Given the description of an element on the screen output the (x, y) to click on. 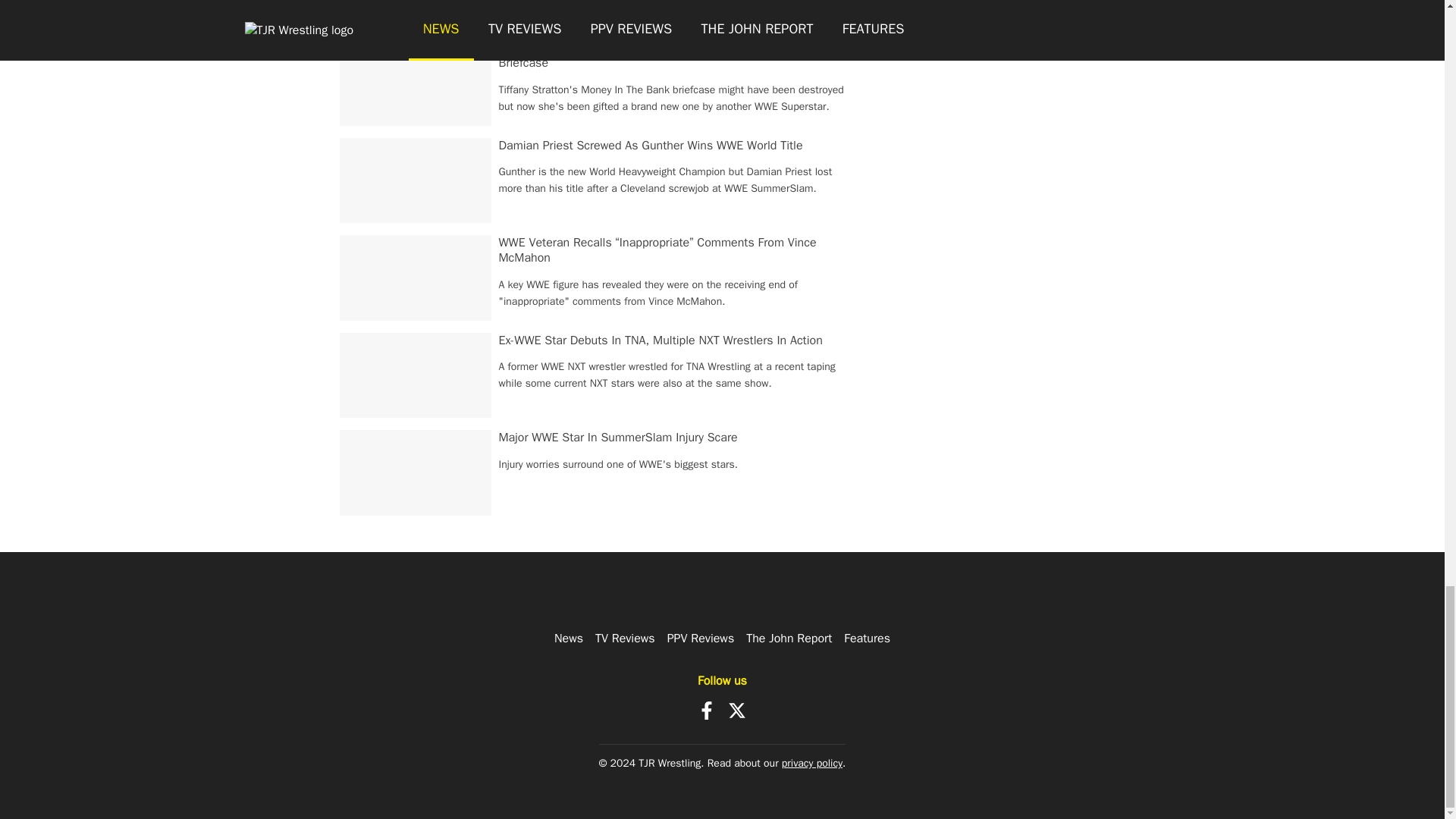
Ex-WWE Star Debuts In TNA, Multiple NXT Wrestlers In Action (660, 340)
Damian Priest Screwed As Gunther Wins WWE World Title (651, 145)
Major WWE Star In SummerSlam Injury Scare (618, 437)
X (736, 710)
Facebook (706, 710)
